Given the description of an element on the screen output the (x, y) to click on. 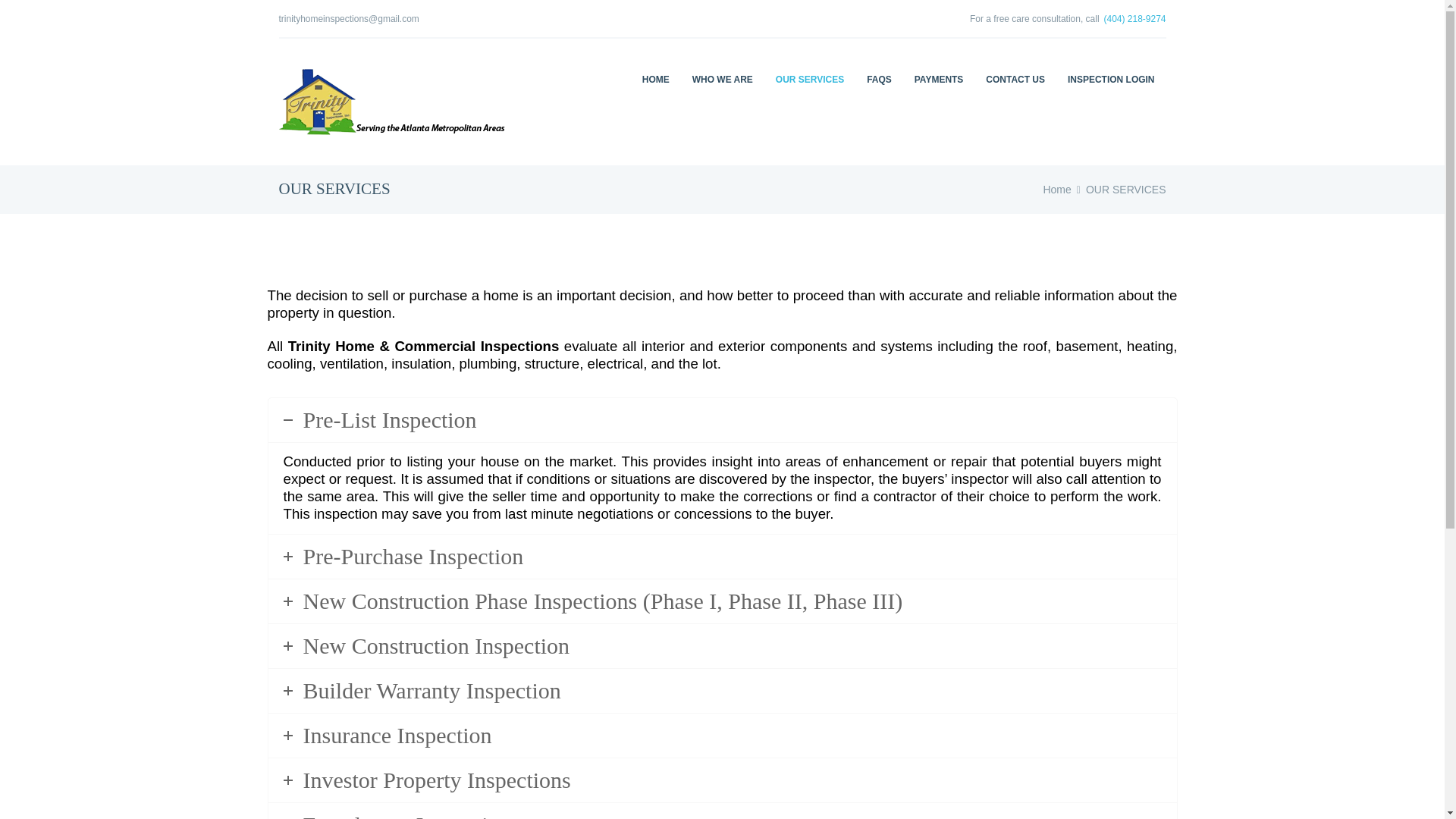
New Construction Inspection (721, 646)
Builder Warranty Inspection (721, 690)
Foreclosure Inspections (721, 811)
Insurance Inspection (721, 735)
CONTACT US (1015, 79)
Pre-List Inspection (721, 420)
Home (1056, 189)
OUR SERVICES (810, 79)
HOME (655, 79)
FAQS (879, 79)
WHO WE ARE (722, 79)
PAYMENTS (938, 79)
INSPECTION LOGIN (1111, 79)
Pre-Purchase Inspection (721, 556)
Investor Property Inspections (721, 780)
